Given the description of an element on the screen output the (x, y) to click on. 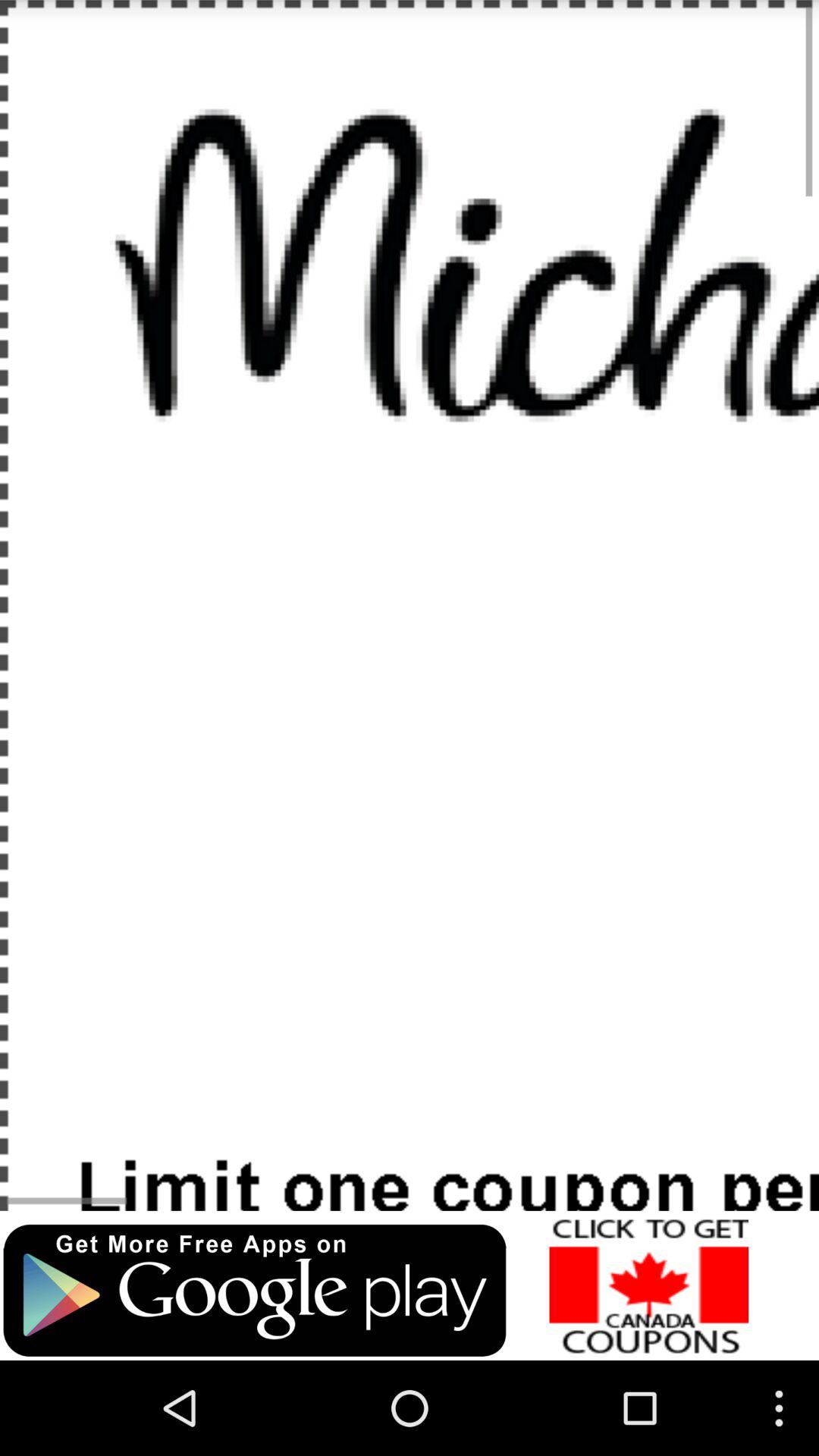
advisement (254, 1290)
